Given the description of an element on the screen output the (x, y) to click on. 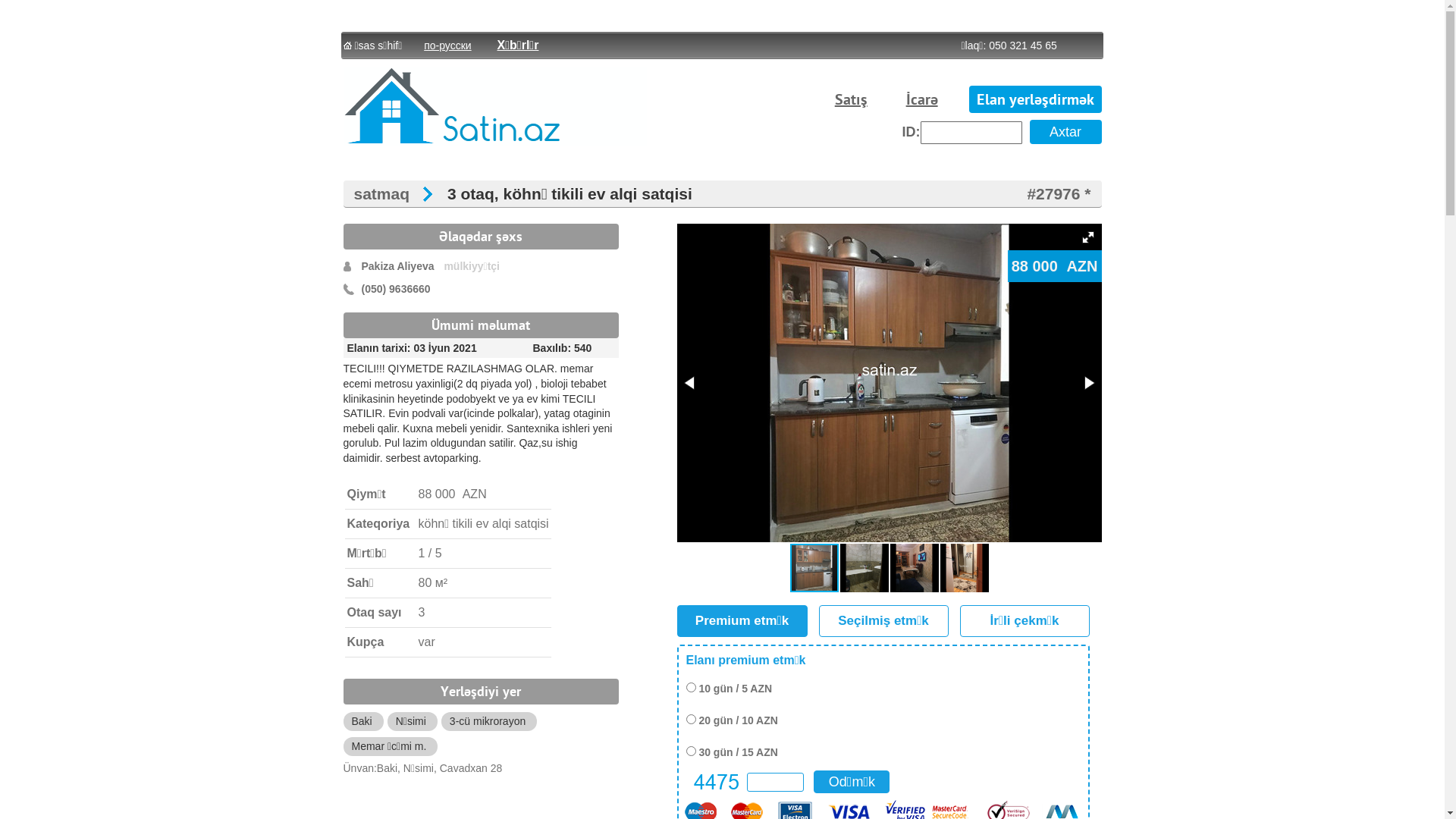
Axtar Element type: text (1065, 131)
Baki Element type: text (361, 721)
